Given the description of an element on the screen output the (x, y) to click on. 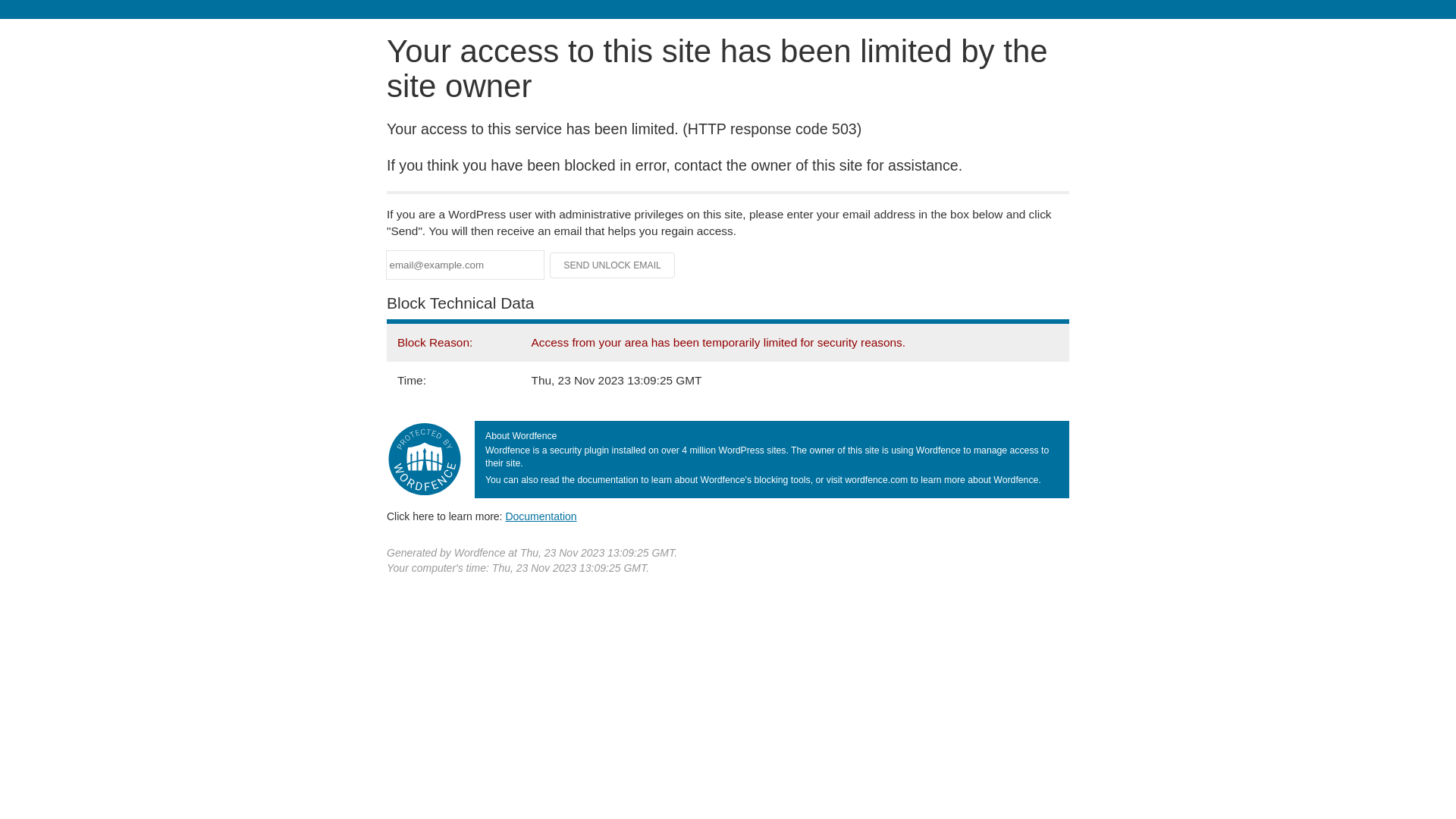
Documentation Element type: text (540, 516)
Send Unlock Email Element type: text (612, 265)
